Given the description of an element on the screen output the (x, y) to click on. 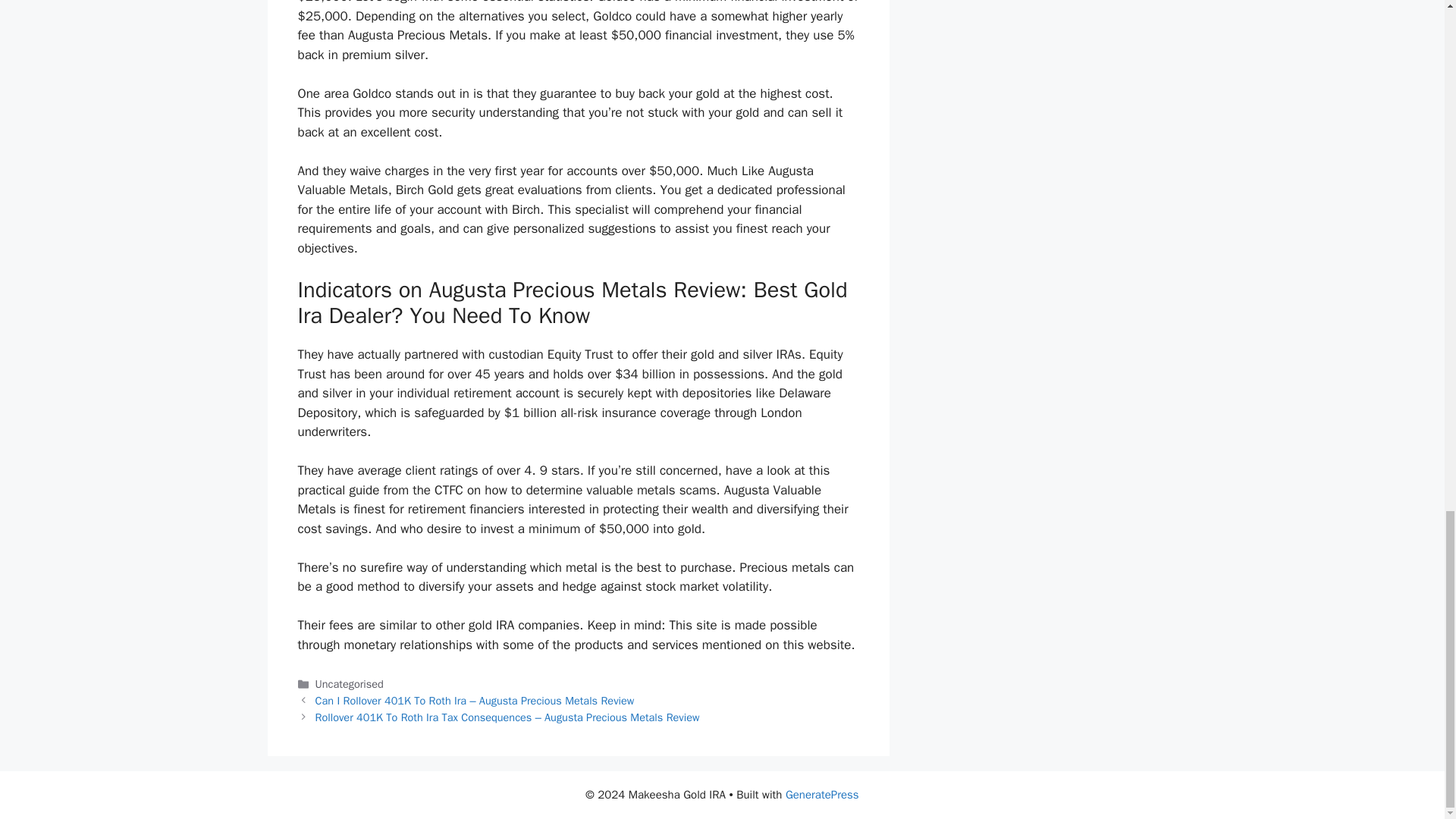
GeneratePress (822, 794)
